Given the description of an element on the screen output the (x, y) to click on. 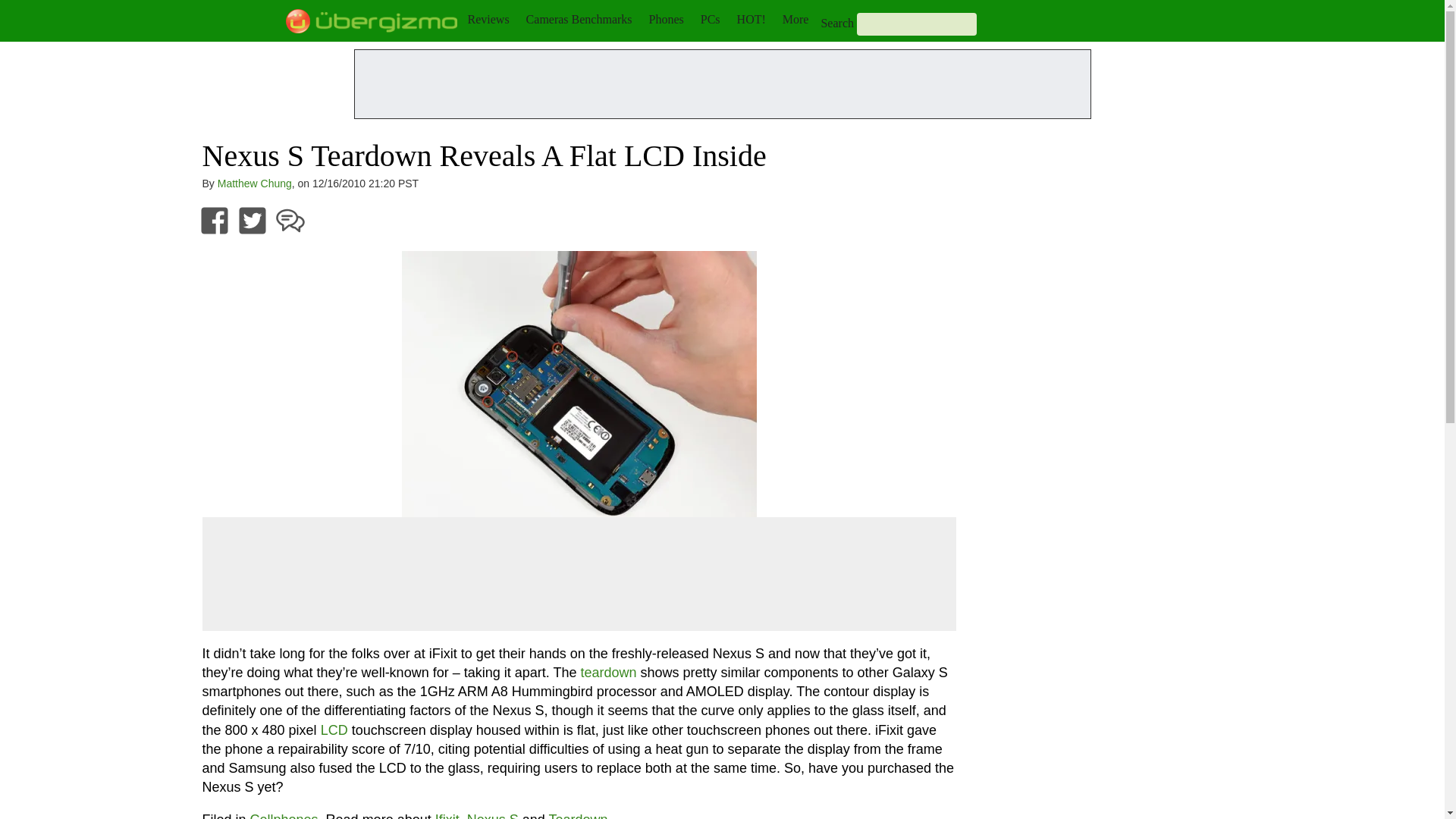
Cameras Benchmarks (578, 19)
Nexus S Teardown Reveals A Flat LCD Inside (579, 383)
PCs (710, 19)
Phones (666, 19)
Reviews (487, 19)
